Given the description of an element on the screen output the (x, y) to click on. 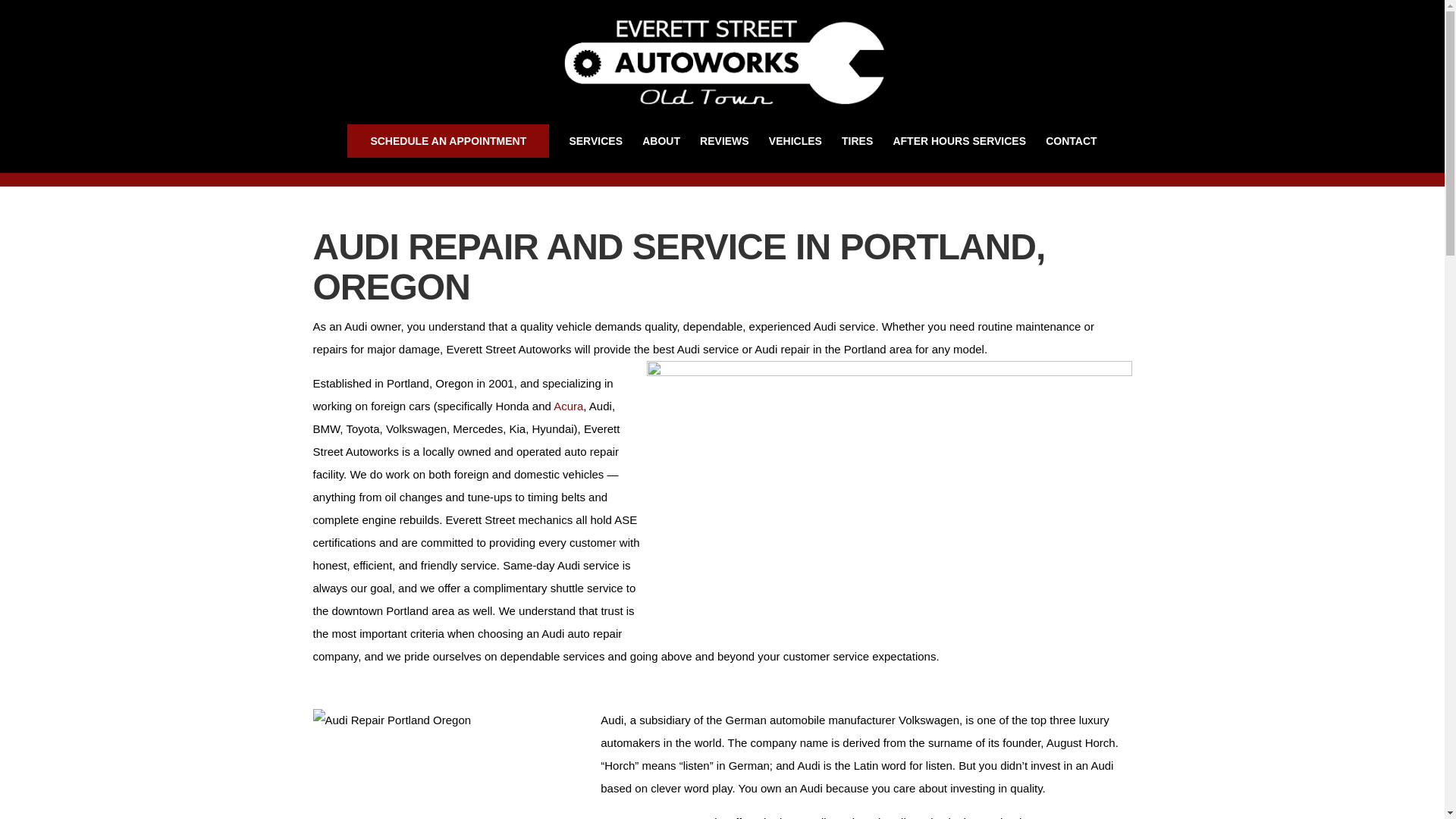
TIRES (856, 151)
Acura (568, 405)
AFTER HOURS SERVICES (959, 151)
REVIEWS (724, 151)
ABOUT (660, 151)
SERVICES (596, 151)
CONTACT (1070, 151)
SCHEDULE AN APPOINTMENT (447, 141)
VEHICLES (795, 151)
